Given the description of an element on the screen output the (x, y) to click on. 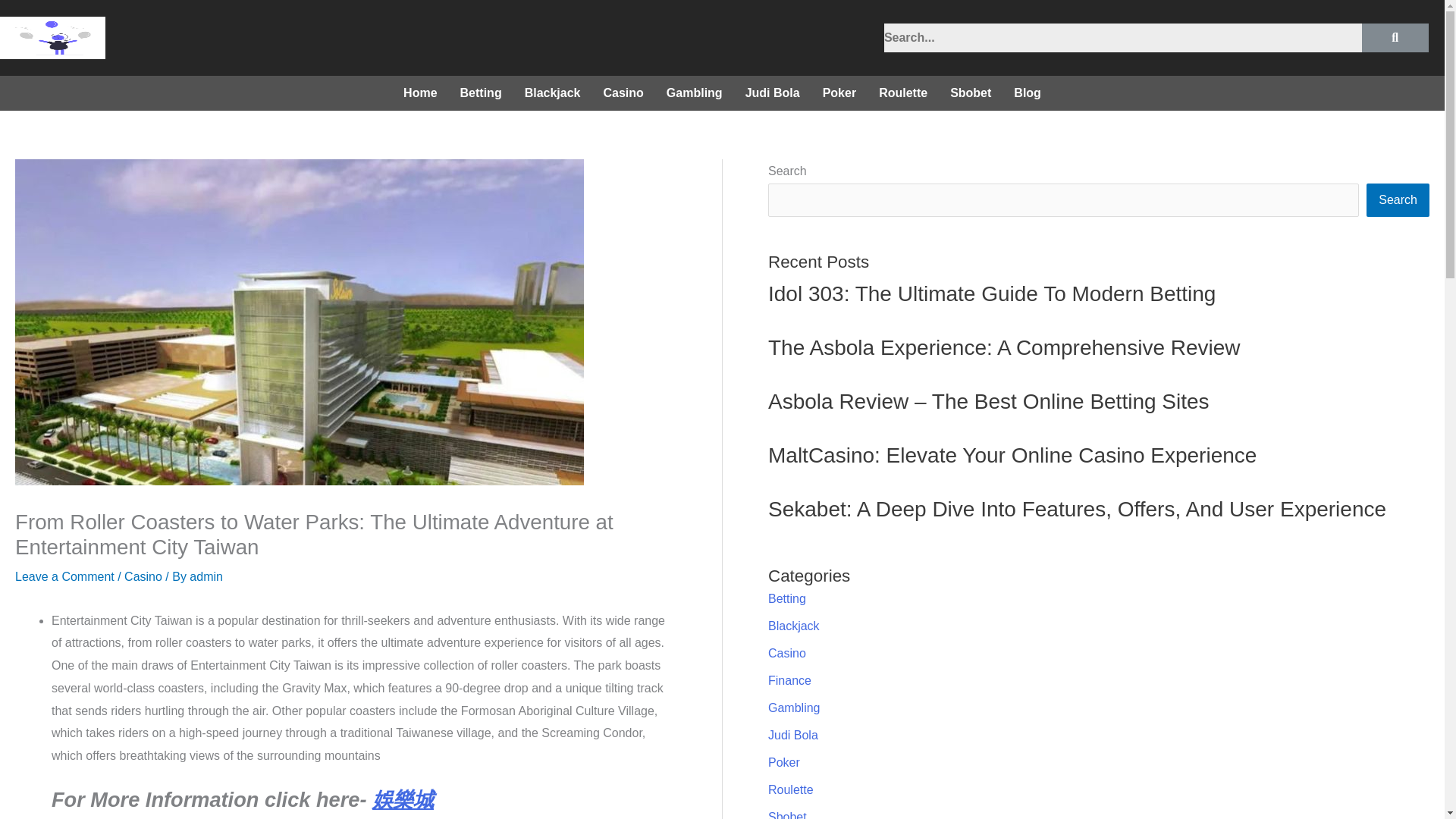
Judi Bola (793, 735)
Roulette (790, 789)
Gambling (793, 707)
View all posts by admin (205, 576)
Casino (623, 93)
Finance (789, 680)
Leave a Comment (64, 576)
Sbobet (971, 93)
The Asbola Experience: A Comprehensive Review (1004, 347)
Idol 303: The Ultimate Guide To Modern Betting (991, 293)
Blog (1027, 93)
Betting (787, 598)
Blackjack (552, 93)
Search (1122, 37)
Sbobet (787, 814)
